Given the description of an element on the screen output the (x, y) to click on. 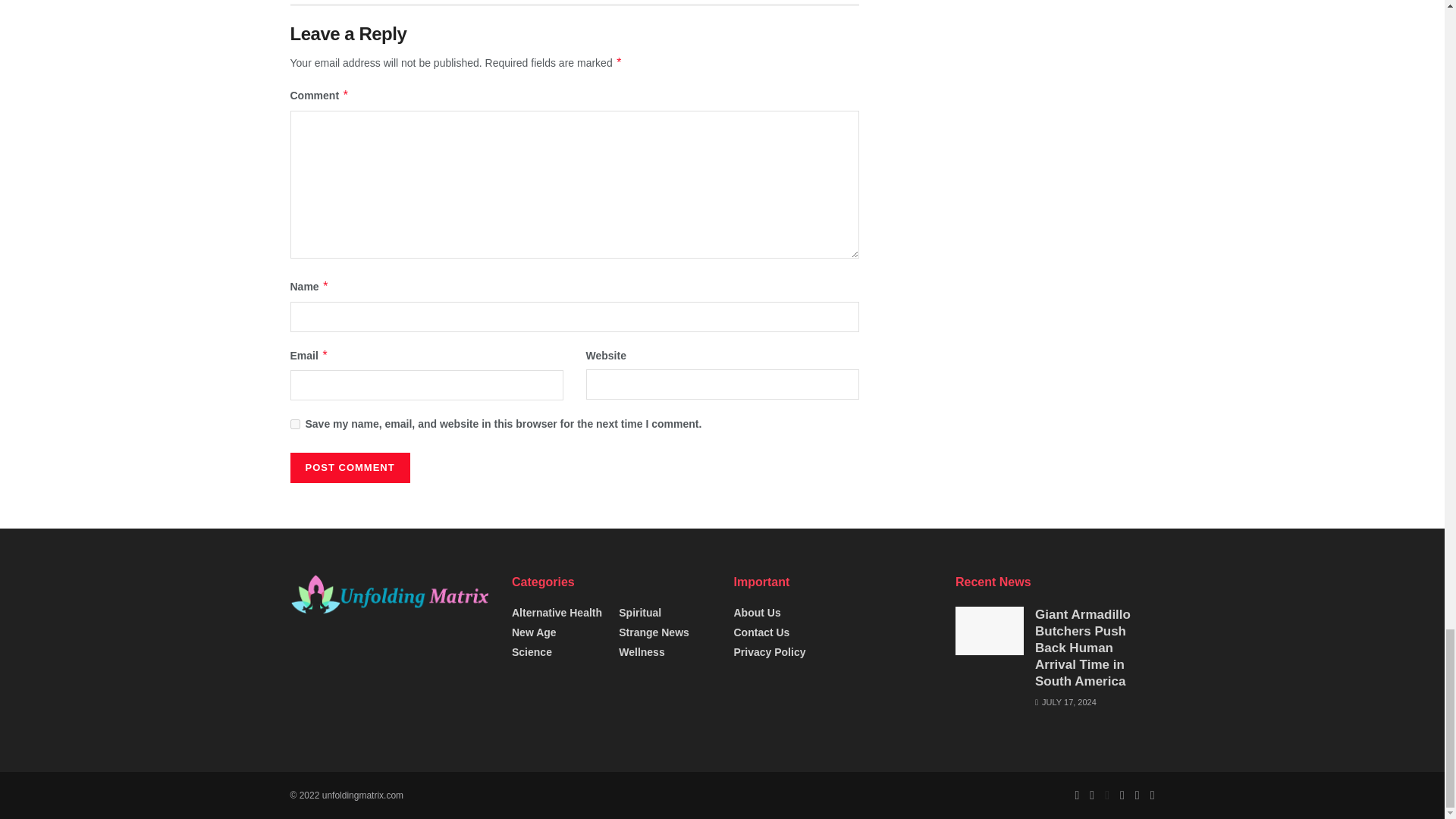
yes (294, 424)
Post Comment (349, 467)
